Given the description of an element on the screen output the (x, y) to click on. 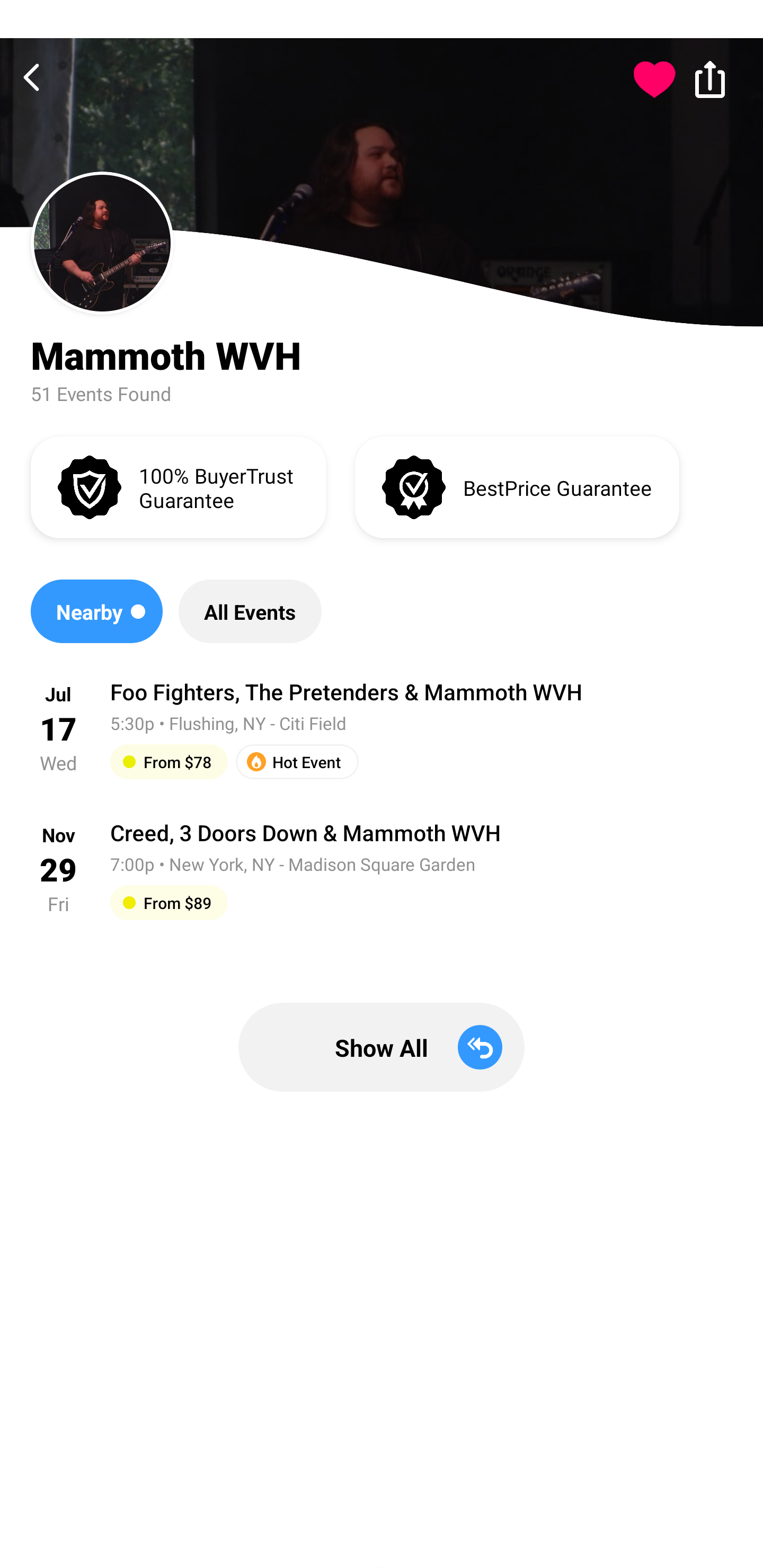
100% BuyerTrust Guarantee (178, 486)
BestPrice Guarantee (516, 486)
Nearby (96, 611)
All Events (249, 611)
Show All (381, 1047)
